Given the description of an element on the screen output the (x, y) to click on. 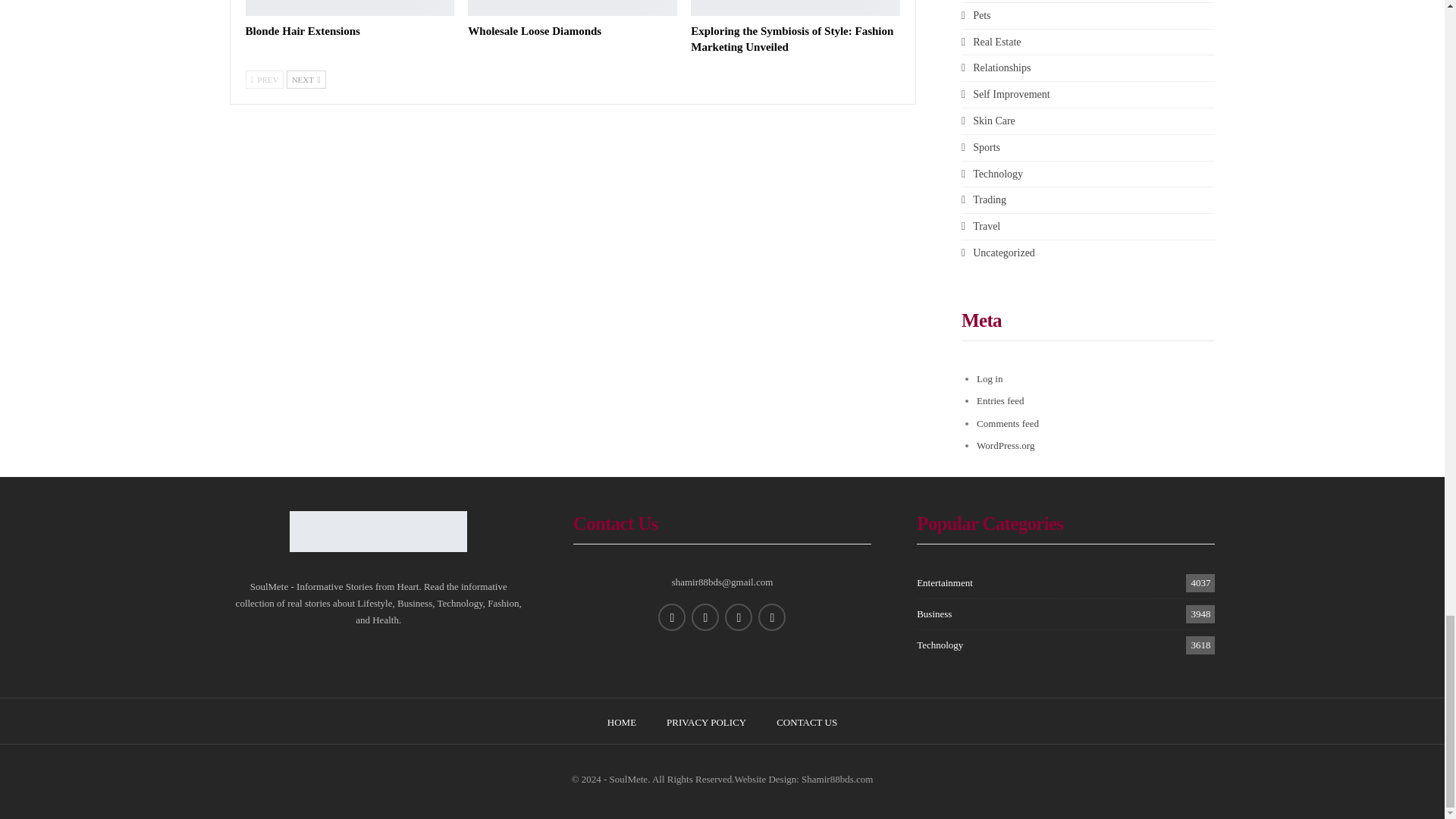
Exploring the Symbiosis of Style: Fashion Marketing Unveiled (794, 7)
Wholesale Loose Diamonds (572, 7)
Blonde Hair Extensions (350, 7)
Blonde Hair Extensions (302, 30)
Exploring the Symbiosis of Style: Fashion Marketing Unveiled (791, 39)
Wholesale Loose Diamonds (534, 30)
